Given the description of an element on the screen output the (x, y) to click on. 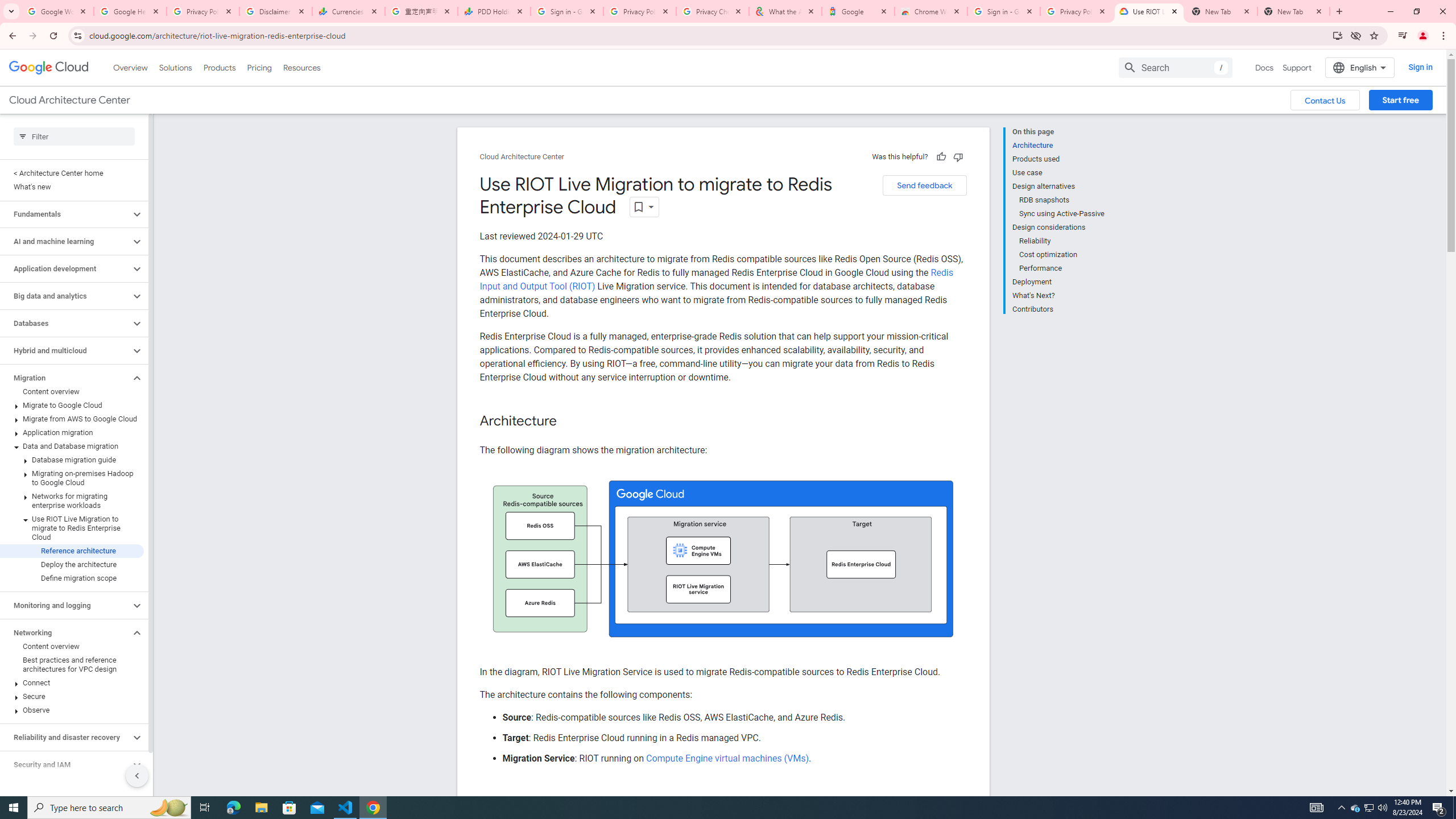
Google Cloud (48, 67)
Migrating on-premises Hadoop to Google Cloud (72, 477)
AI and machine learning (64, 241)
New Tab (1293, 11)
Secure (72, 696)
Performance (1062, 268)
Design alternatives (1058, 186)
Observe (72, 710)
Docs, selected (1264, 67)
Solutions (175, 67)
